Given the description of an element on the screen output the (x, y) to click on. 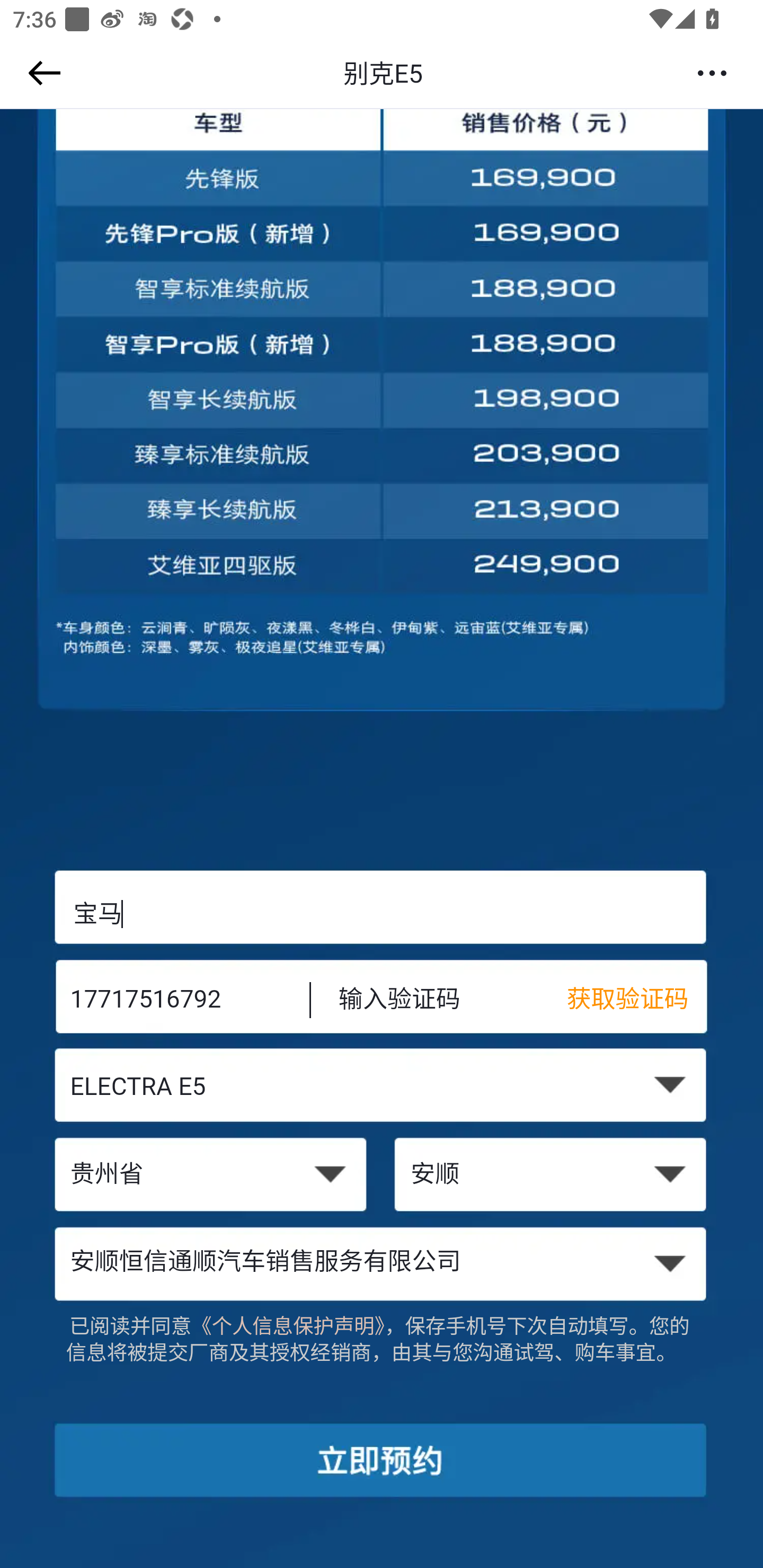
 (41, 72)
宝马 (381, 912)
17717516792 (176, 1001)
获取验证码 (637, 1001)
ELECTRA E5 (381, 1088)
贵州省 (210, 1175)
安顺 (552, 1175)
安顺恒信通顺汽车销售服务有限公司 (381, 1262)
